Given the description of an element on the screen output the (x, y) to click on. 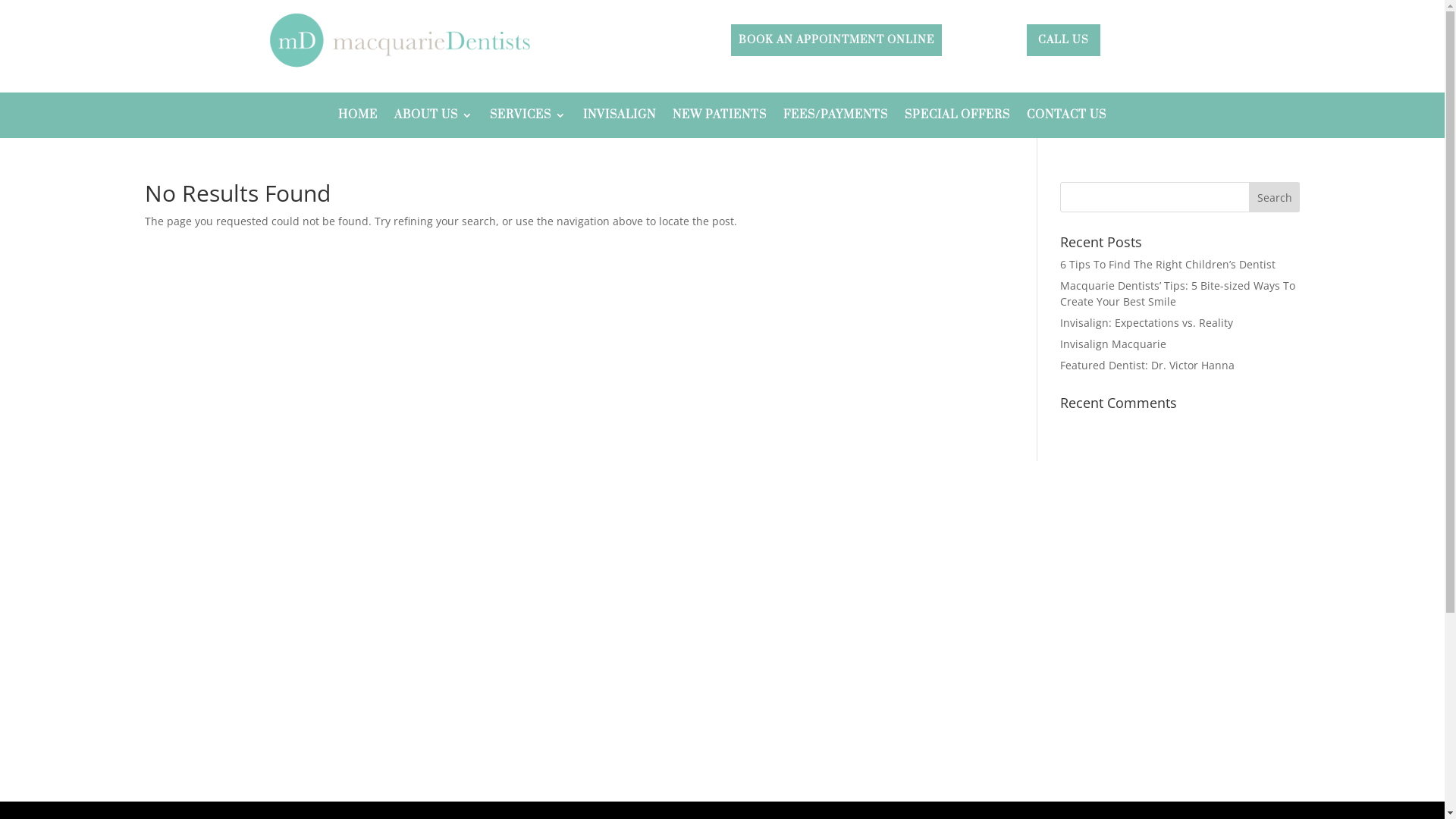
ABOUT US Element type: text (433, 117)
NEW PATIENTS Element type: text (719, 117)
Invisalign: Expectations vs. Reality Element type: text (1146, 322)
Search Element type: text (1274, 197)
CALL US Element type: text (1063, 40)
FEES/PAYMENTS Element type: text (835, 117)
SERVICES Element type: text (527, 117)
Invisalign Macquarie Element type: text (1113, 343)
BOOK AN APPOINTMENT ONLINE Element type: text (836, 40)
CONTACT US Element type: text (1066, 117)
INVISALIGN Element type: text (619, 117)
Featured Dentist: Dr. Victor Hanna Element type: text (1147, 364)
HOME Element type: text (357, 117)
SPECIAL OFFERS Element type: text (957, 117)
